Given the description of an element on the screen output the (x, y) to click on. 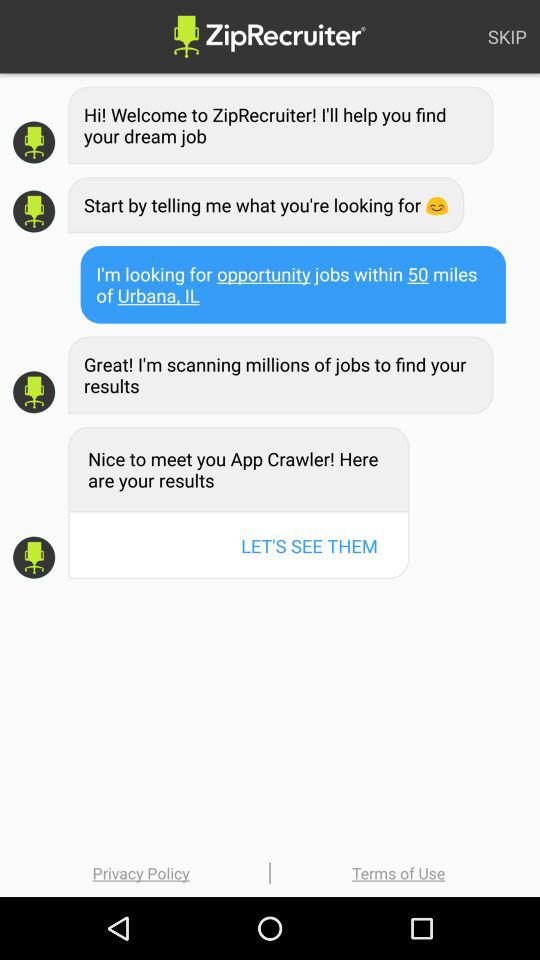
press icon above hi welcome to item (507, 36)
